Given the description of an element on the screen output the (x, y) to click on. 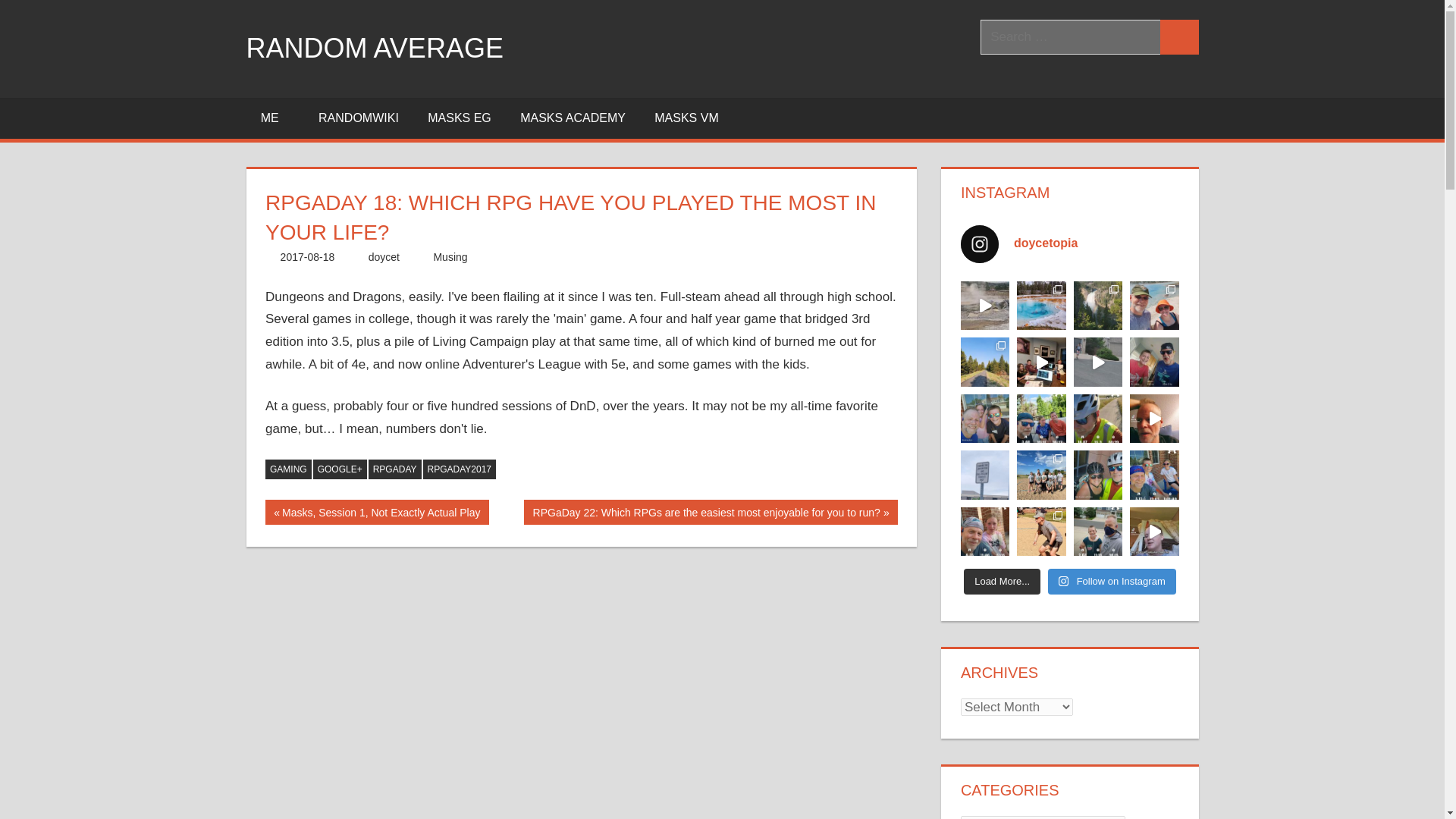
20:49 (376, 511)
doycetopia (307, 256)
RANDOM AVERAGE (1069, 243)
MASKS VM (374, 47)
ME (686, 117)
MASKS EG (274, 117)
2017-08-18 (459, 117)
Search for: (307, 256)
MASKS ACADEMY (1069, 36)
GAMING (572, 117)
RPGADAY (287, 469)
View all posts by doycet (395, 469)
Search (383, 256)
RPGADAY2017 (1179, 36)
